Given the description of an element on the screen output the (x, y) to click on. 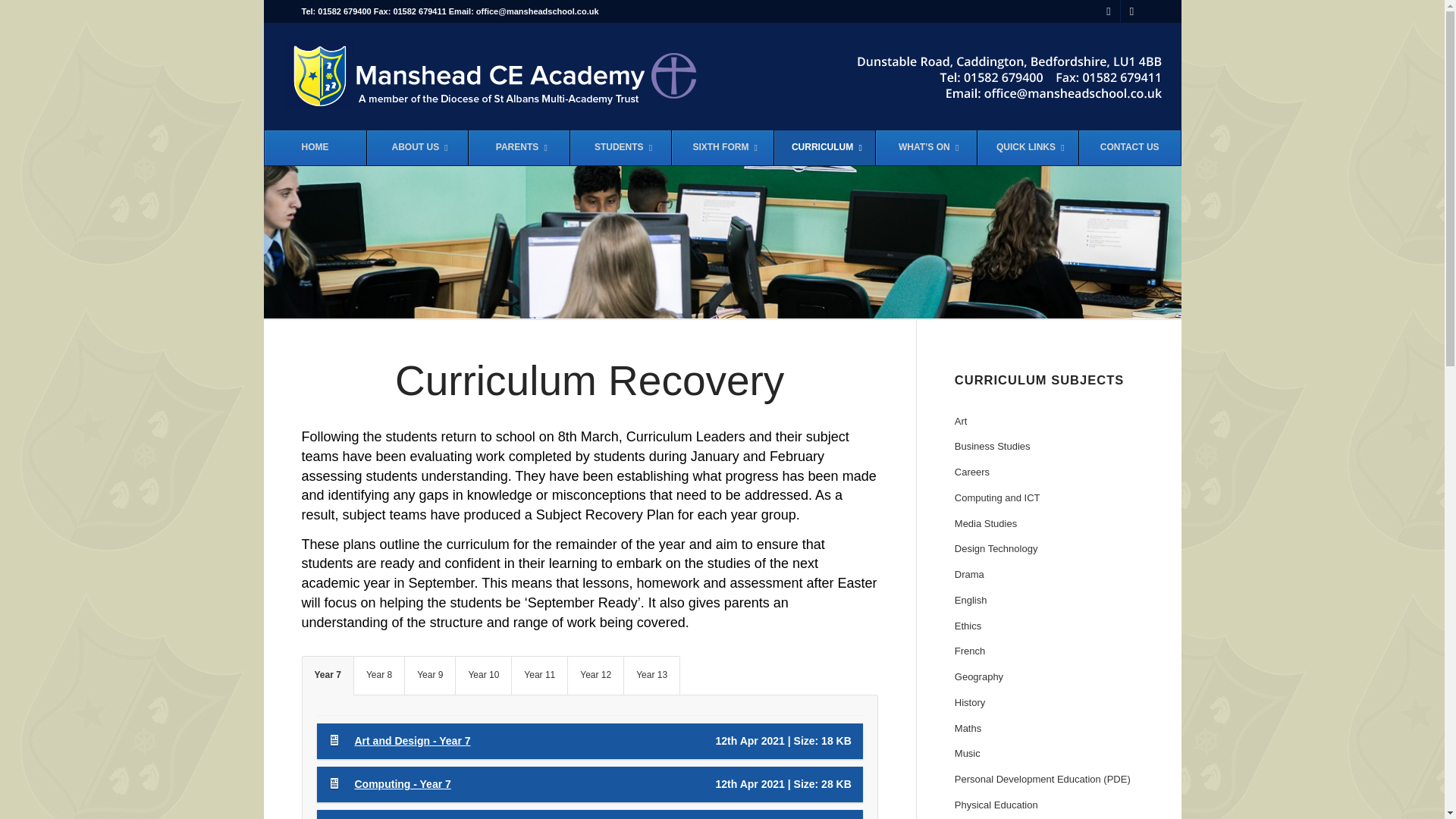
HOME (314, 147)
